Given the description of an element on the screen output the (x, y) to click on. 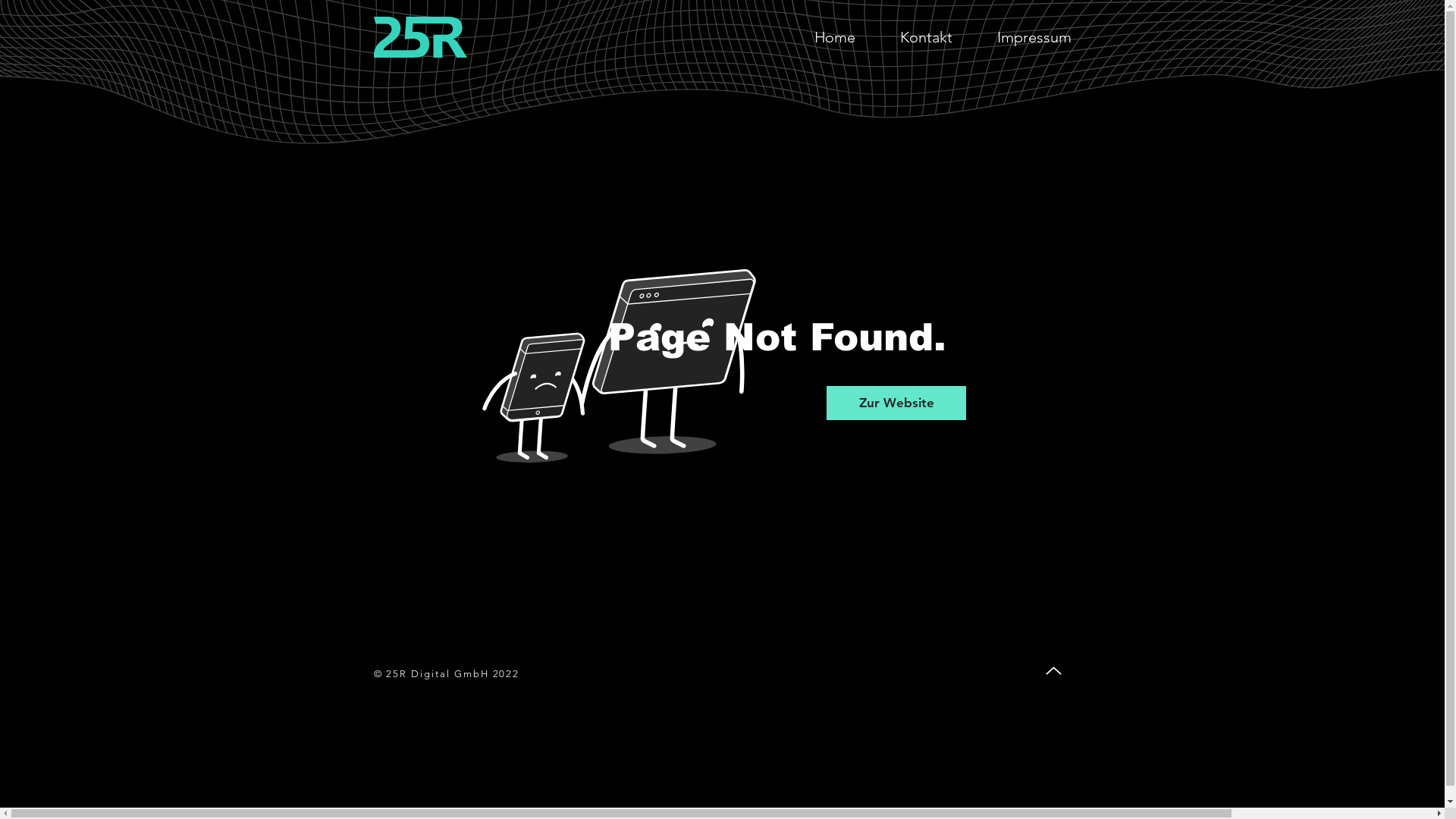
TWIPLA (Visitor Analytics) Element type: hover (1442, 4)
Home Element type: text (834, 37)
Impressum Element type: text (1034, 37)
Zur Website Element type: text (896, 402)
Kontakt Element type: text (926, 37)
